Given the description of an element on the screen output the (x, y) to click on. 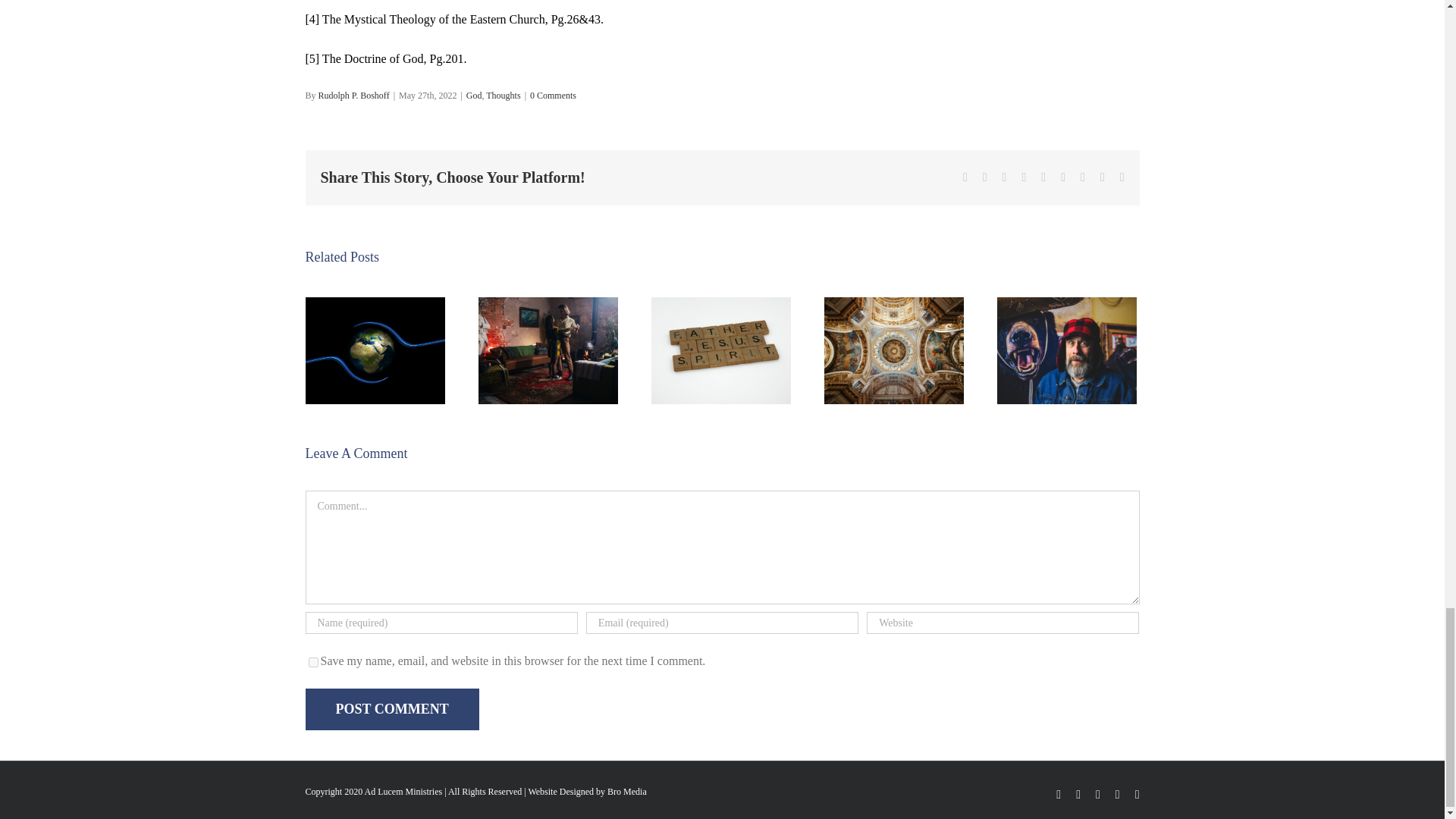
yes (312, 662)
Posts by Rudolph P. Boshoff (354, 95)
Post Comment (391, 709)
